Given the description of an element on the screen output the (x, y) to click on. 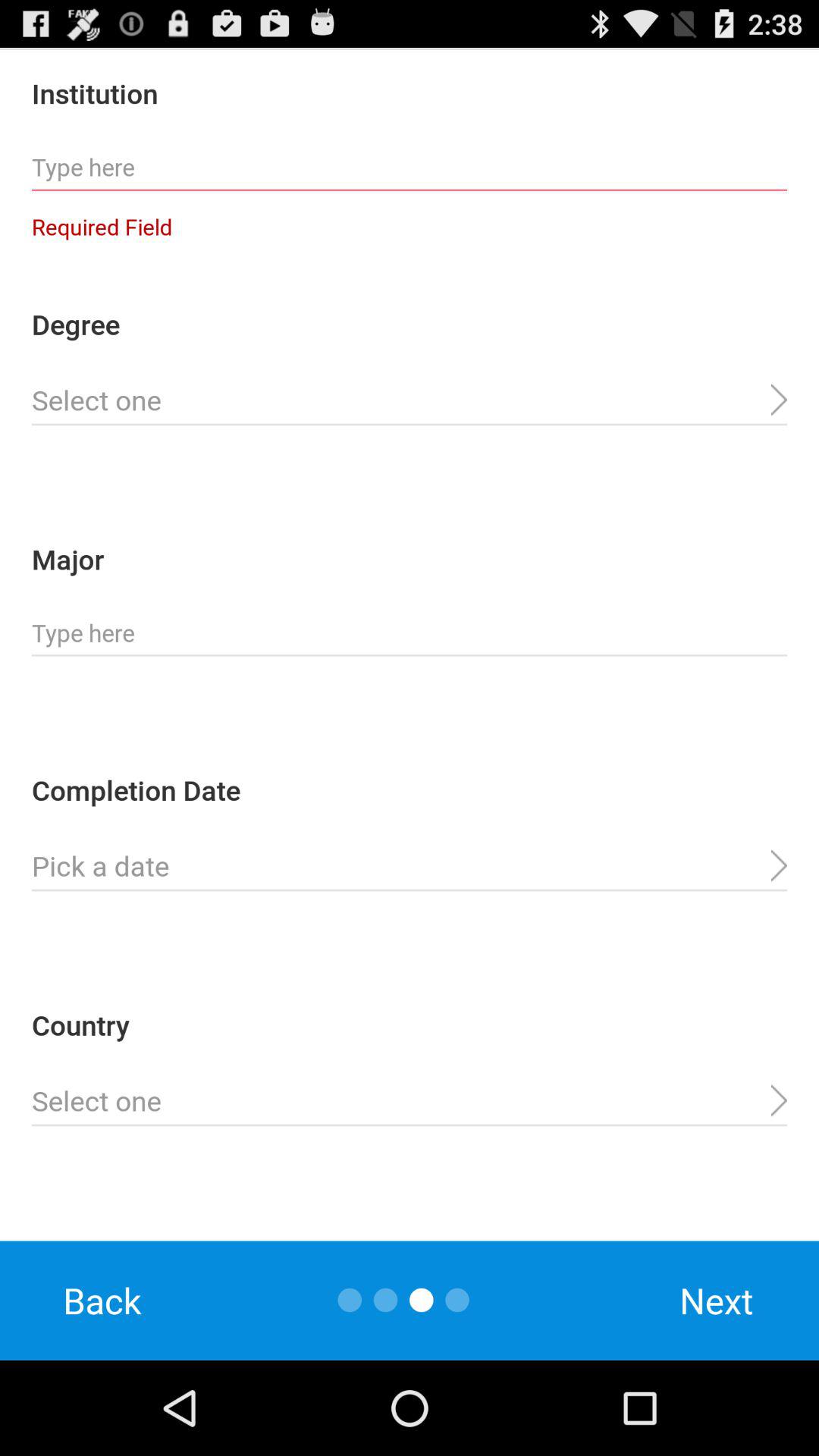
enter degree type (409, 400)
